Given the description of an element on the screen output the (x, y) to click on. 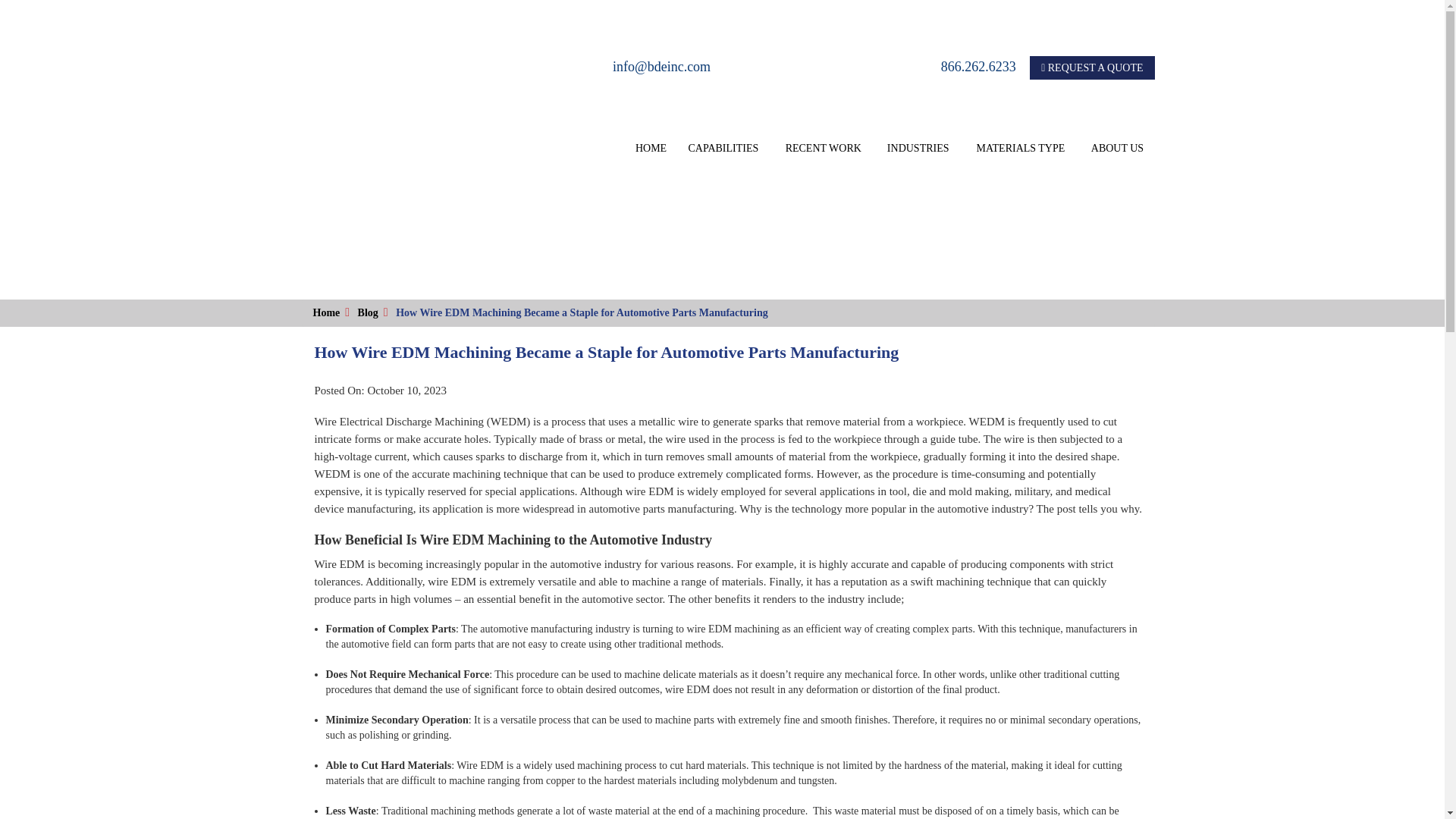
ABOUT US (1116, 148)
MATERIALS TYPE (1020, 148)
HOME (651, 148)
REQUEST A QUOTE (1091, 67)
CAPABILITIES (723, 148)
866.262.6233 (864, 66)
INDUSTRIES (917, 148)
RECENT WORK (823, 148)
